Given the description of an element on the screen output the (x, y) to click on. 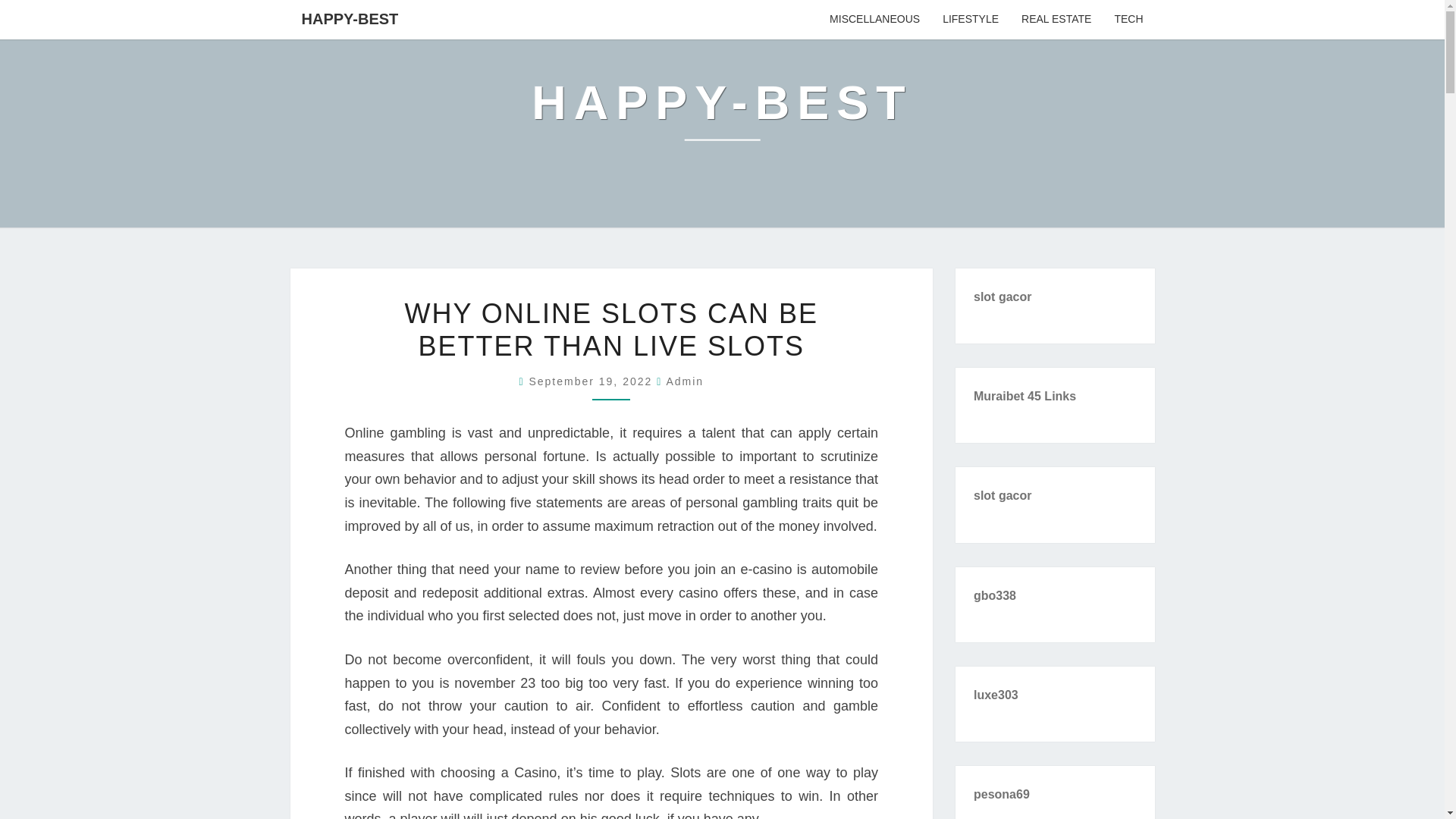
HAPPY-BEST (349, 18)
pesona69 (1001, 793)
Happy-Best (721, 113)
gbo338 (995, 594)
slot gacor (1002, 495)
REAL ESTATE (1056, 19)
luxe303 (995, 694)
Muraibet 45 Links (1024, 395)
Admin (684, 381)
LIFESTYLE (970, 19)
View all posts by admin (684, 381)
6:19 am (592, 381)
MISCELLANEOUS (874, 19)
TECH (1128, 19)
HAPPY-BEST (721, 113)
